Given the description of an element on the screen output the (x, y) to click on. 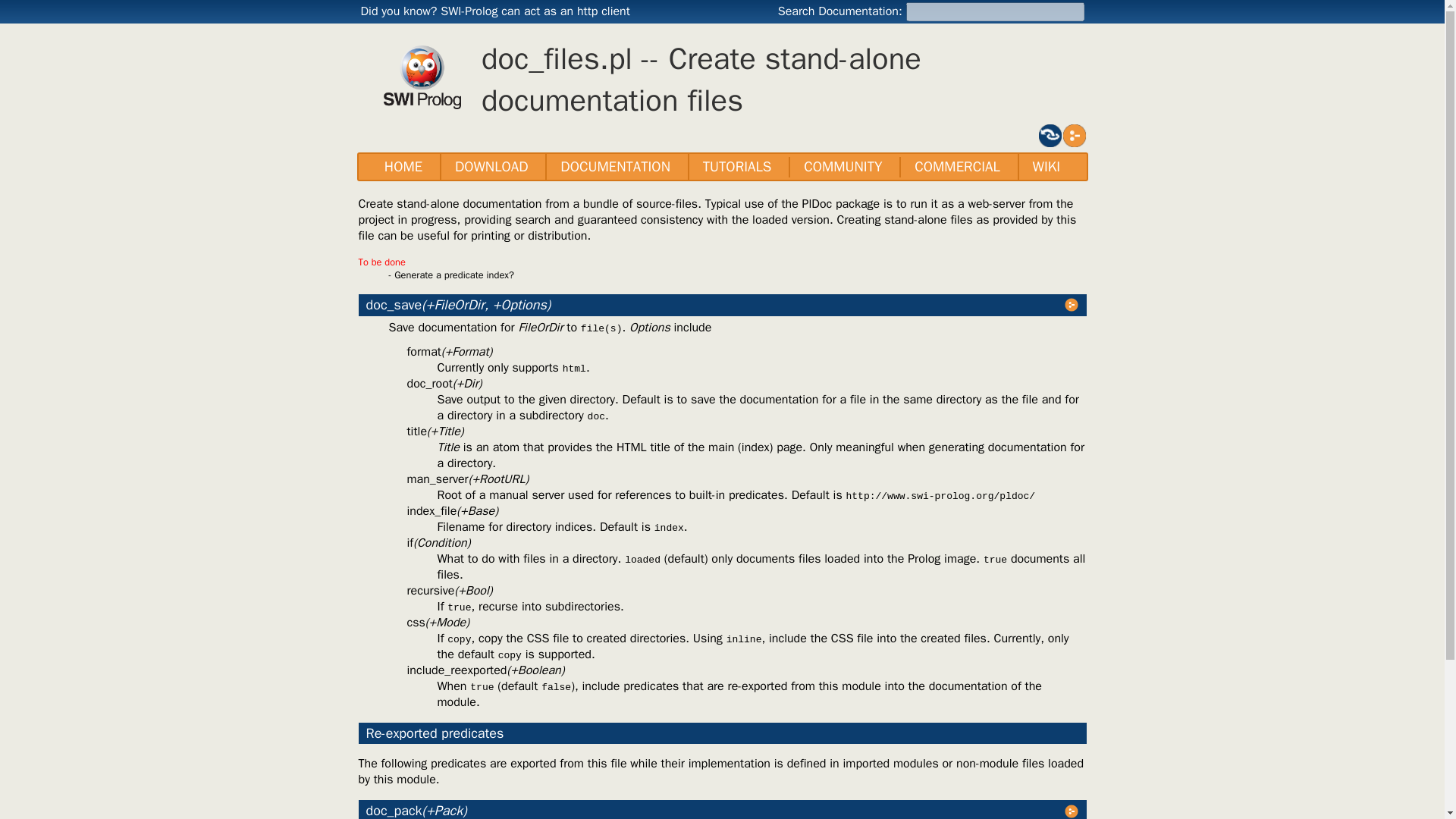
HOME (403, 167)
SWI-Prolog can act as an http client (535, 11)
Click to include private (1048, 134)
SWI-Prolog owl logo (422, 76)
Show source (1073, 134)
